Given the description of an element on the screen output the (x, y) to click on. 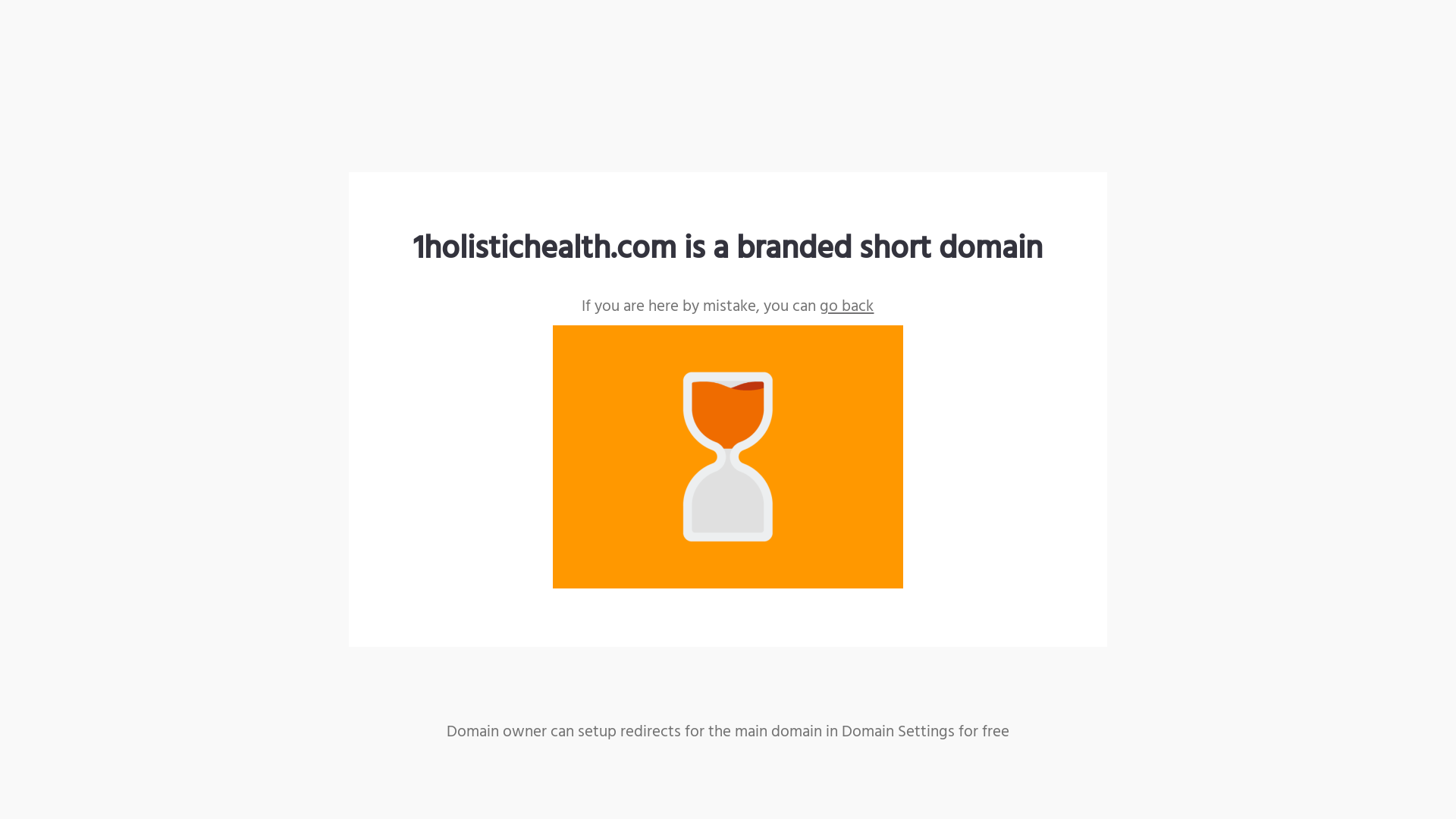
go back Element type: text (846, 306)
